Given the description of an element on the screen output the (x, y) to click on. 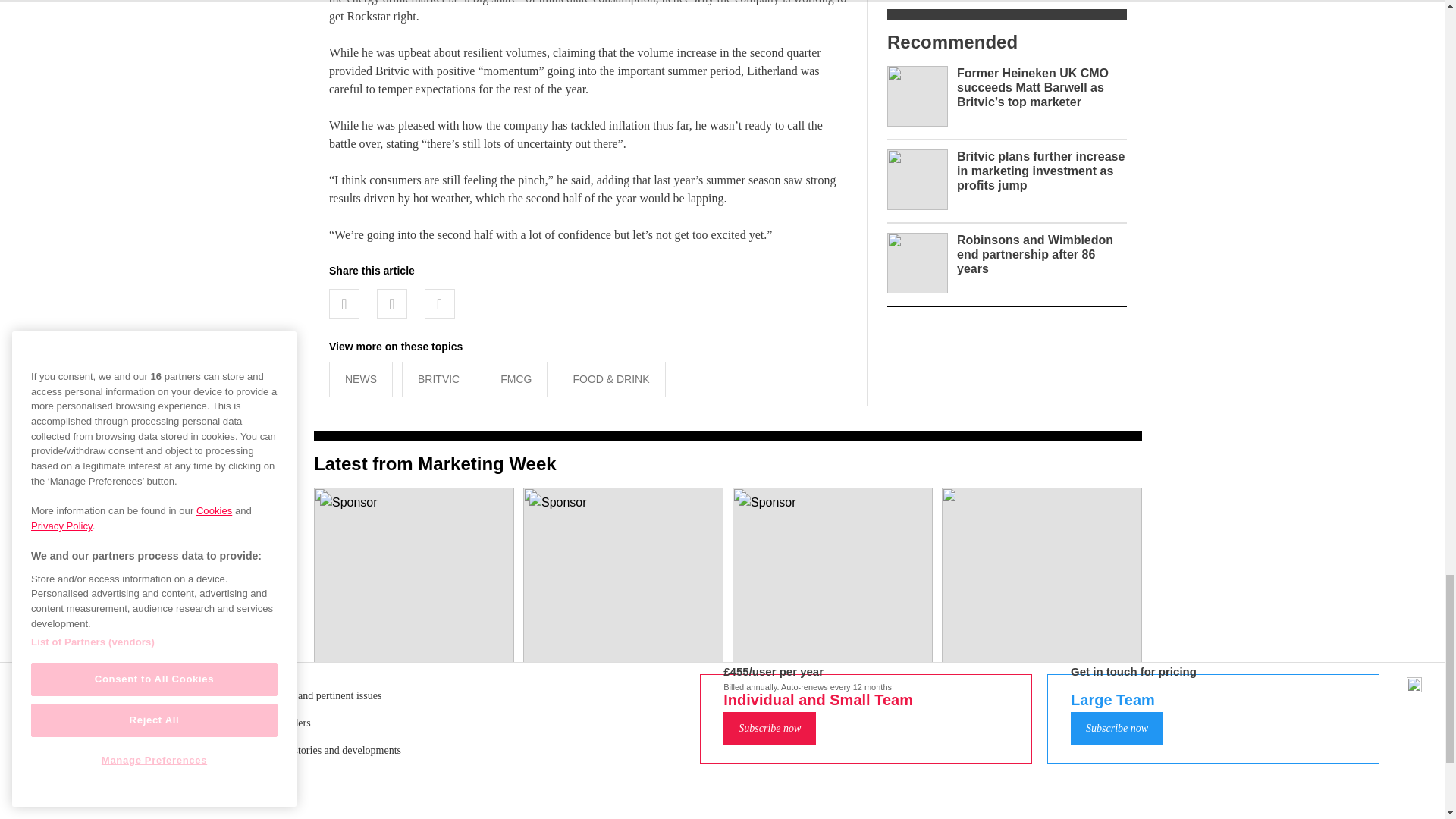
NEWS (361, 379)
FMCG (515, 379)
BRITVIC (438, 379)
